Given the description of an element on the screen output the (x, y) to click on. 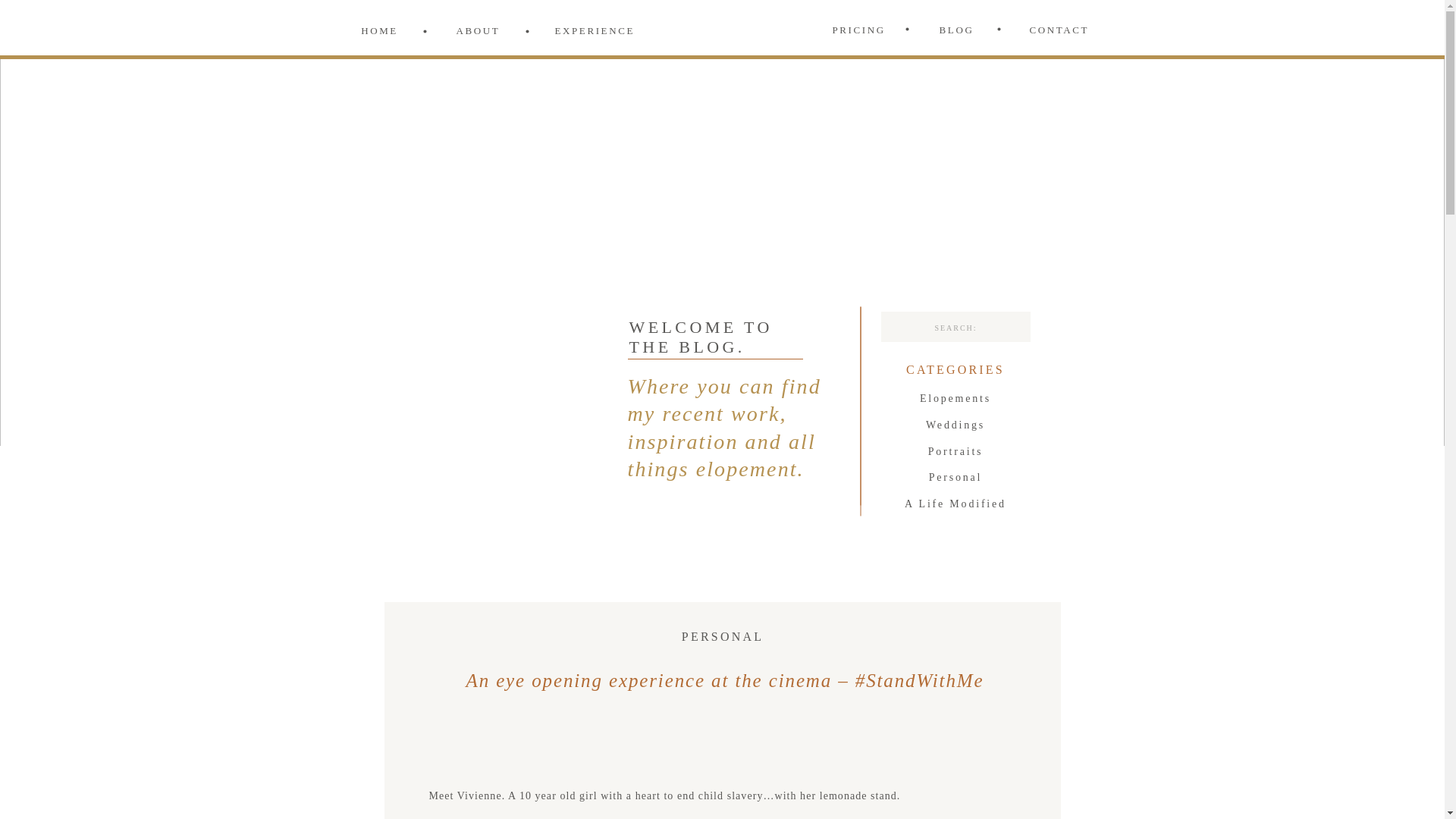
Portraits (954, 453)
BLOG (956, 30)
CONTACT (1057, 30)
EXPERIENCE (587, 31)
ABOUT (478, 31)
PRICING (857, 30)
PERSONAL (721, 635)
Elopements (954, 400)
Personal (954, 479)
A Life Modified (954, 505)
